Given the description of an element on the screen output the (x, y) to click on. 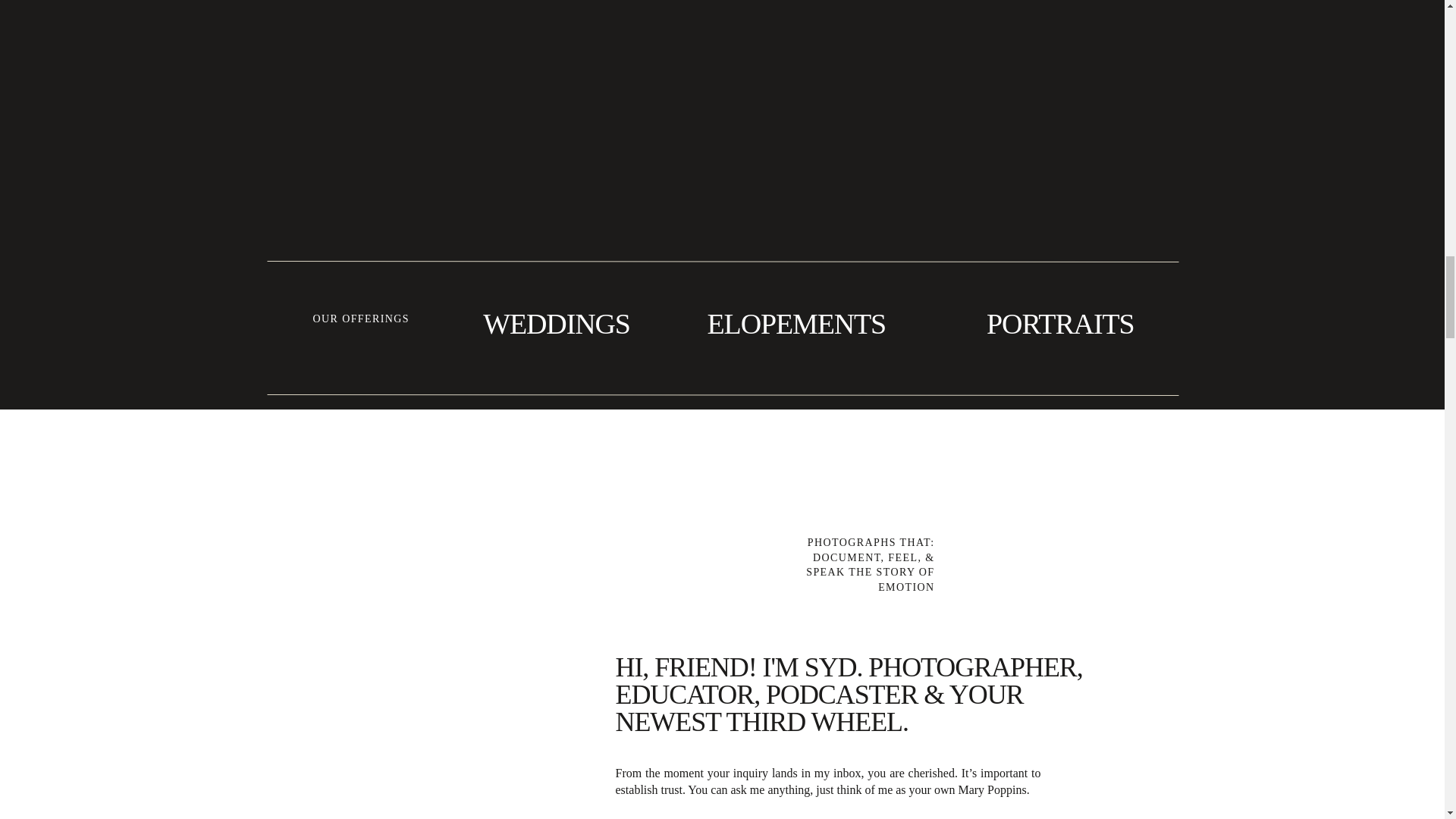
WEDDINGS (555, 324)
ELOPEMENTS (794, 324)
PORTRAITS (1046, 324)
